Given the description of an element on the screen output the (x, y) to click on. 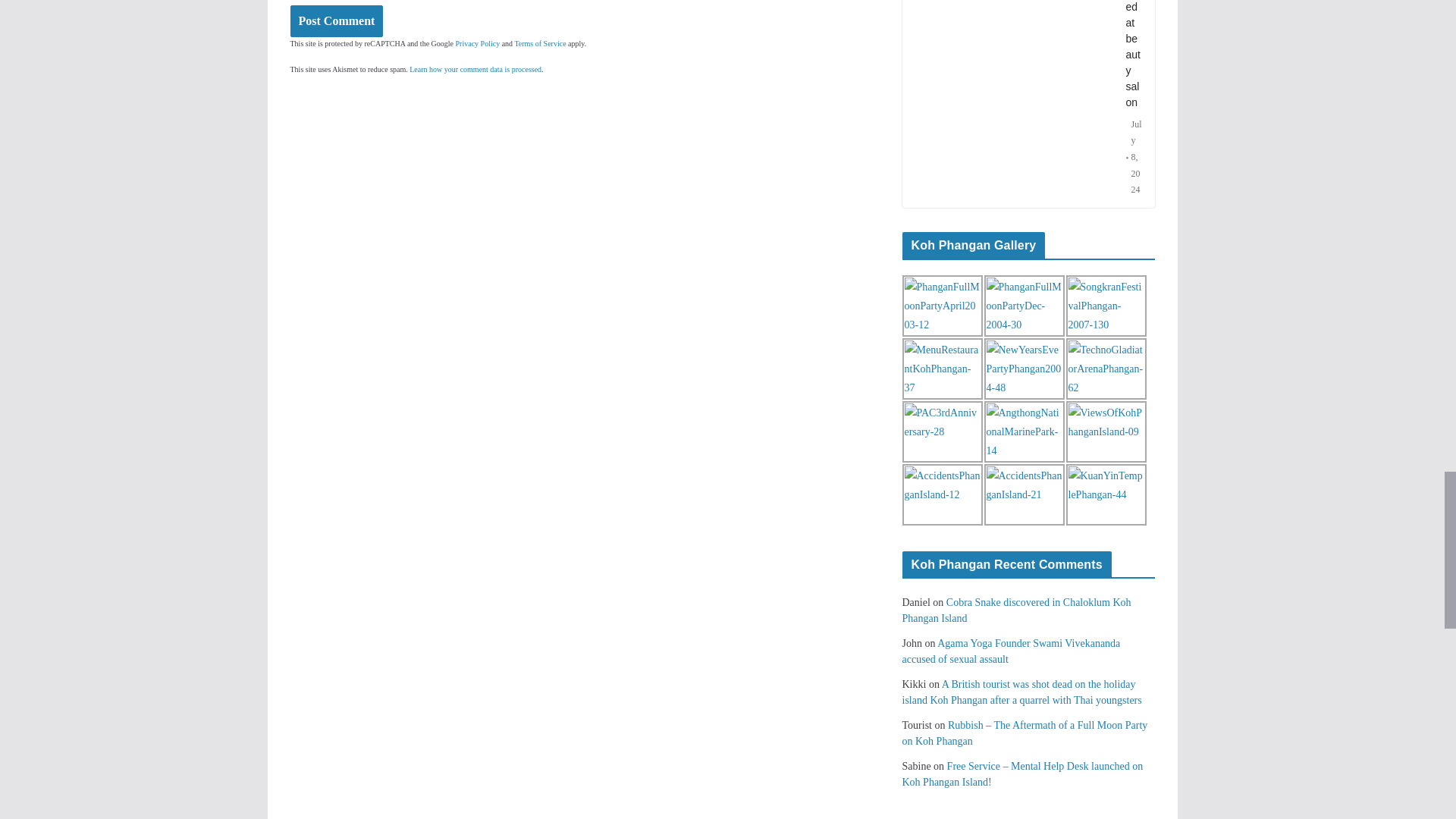
Post Comment (335, 20)
